Given the description of an element on the screen output the (x, y) to click on. 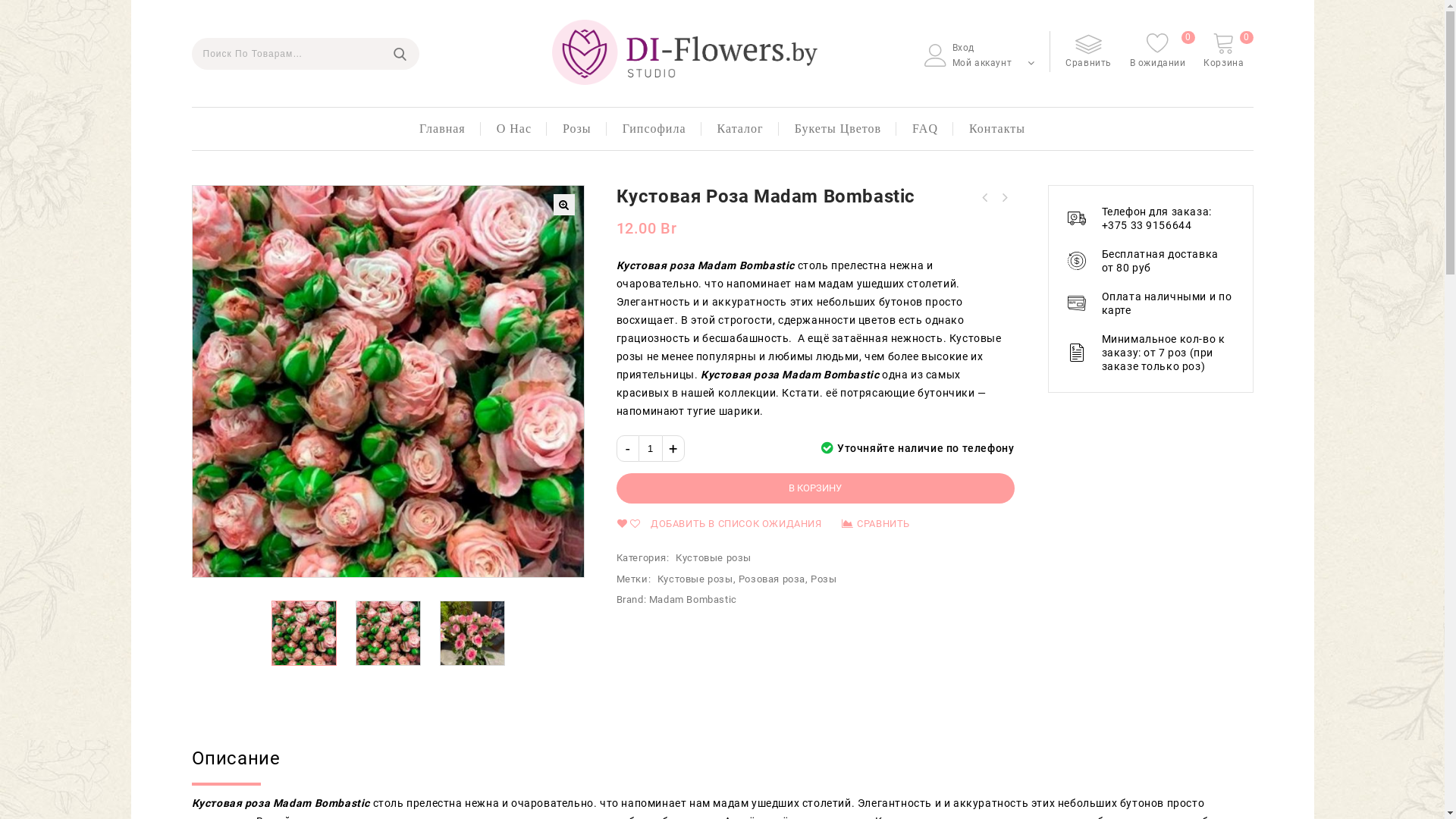
FAQ Element type: text (925, 128)
Qty Element type: hover (649, 448)
roza kustovay Element type: hover (779, 381)
Madam Bombastic Element type: text (693, 599)
